Given the description of an element on the screen output the (x, y) to click on. 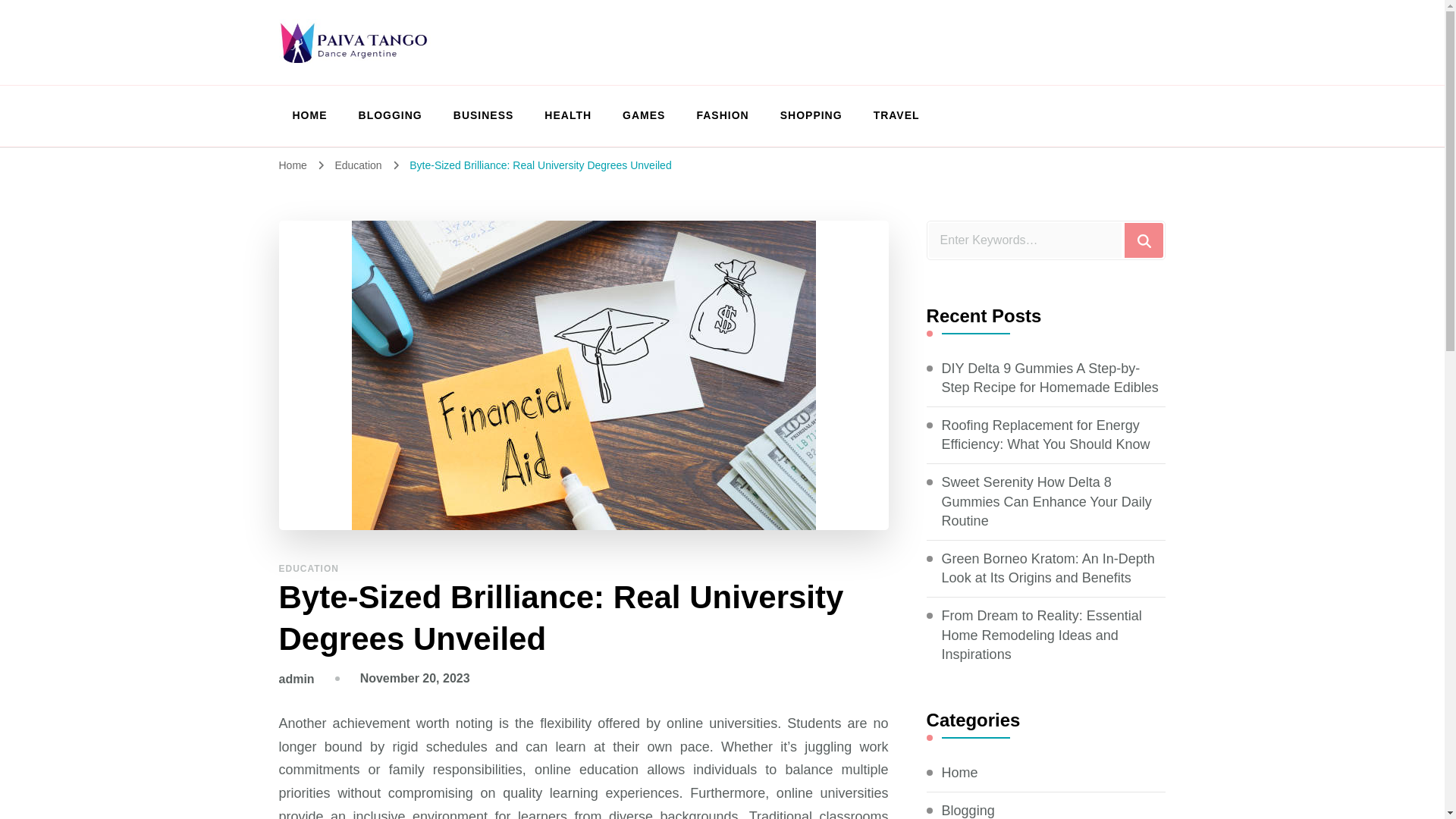
EDUCATION (309, 568)
Home (293, 164)
admin (296, 678)
Search (1143, 239)
FASHION (721, 115)
HEALTH (568, 115)
HOME (309, 115)
Byte-Sized Brilliance: Real University Degrees Unveiled (540, 164)
Education (359, 164)
November 20, 2023 (414, 677)
BUSINESS (483, 115)
Paiva Tango (368, 82)
GAMES (643, 115)
SHOPPING (811, 115)
TRAVEL (890, 115)
